Given the description of an element on the screen output the (x, y) to click on. 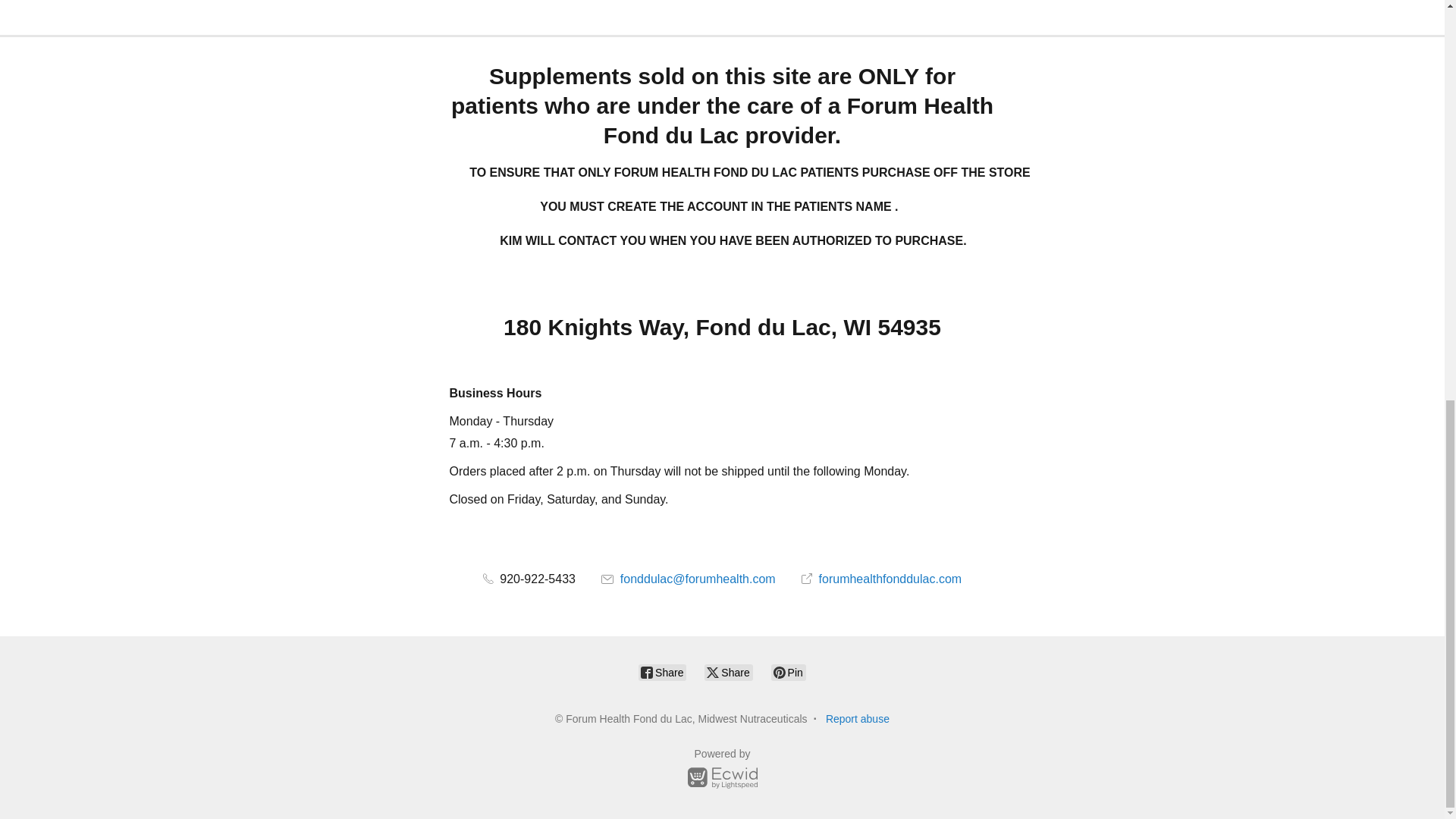
Powered by (722, 770)
Share (728, 672)
Report abuse (857, 718)
forumhealthfonddulac.com (881, 578)
Share (662, 672)
Pin (788, 672)
920-922-5433 (529, 578)
